Given the description of an element on the screen output the (x, y) to click on. 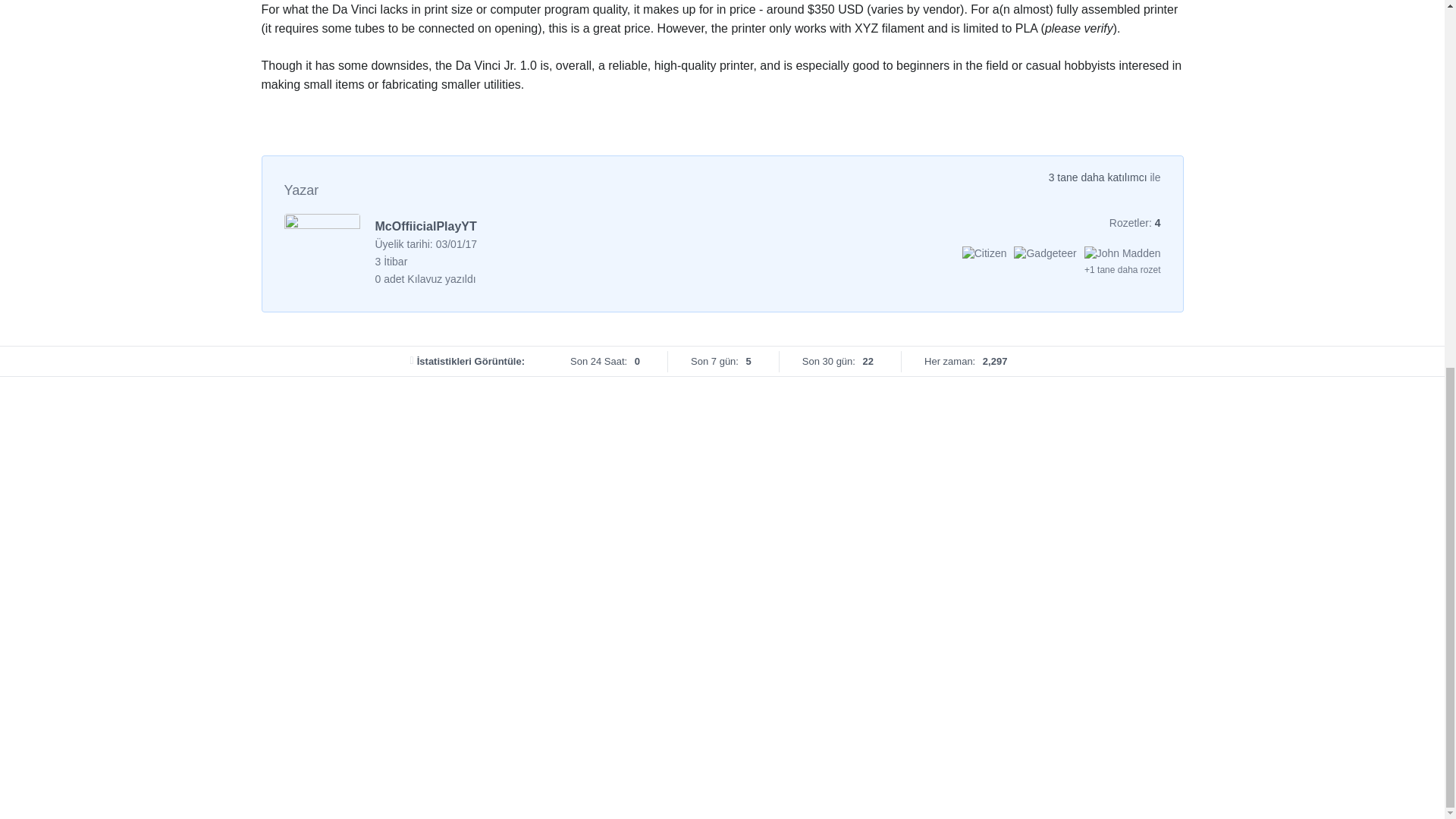
Rozetler: 4 (1134, 223)
Yazar (300, 190)
McOffiicialPlayYT (425, 226)
